Given the description of an element on the screen output the (x, y) to click on. 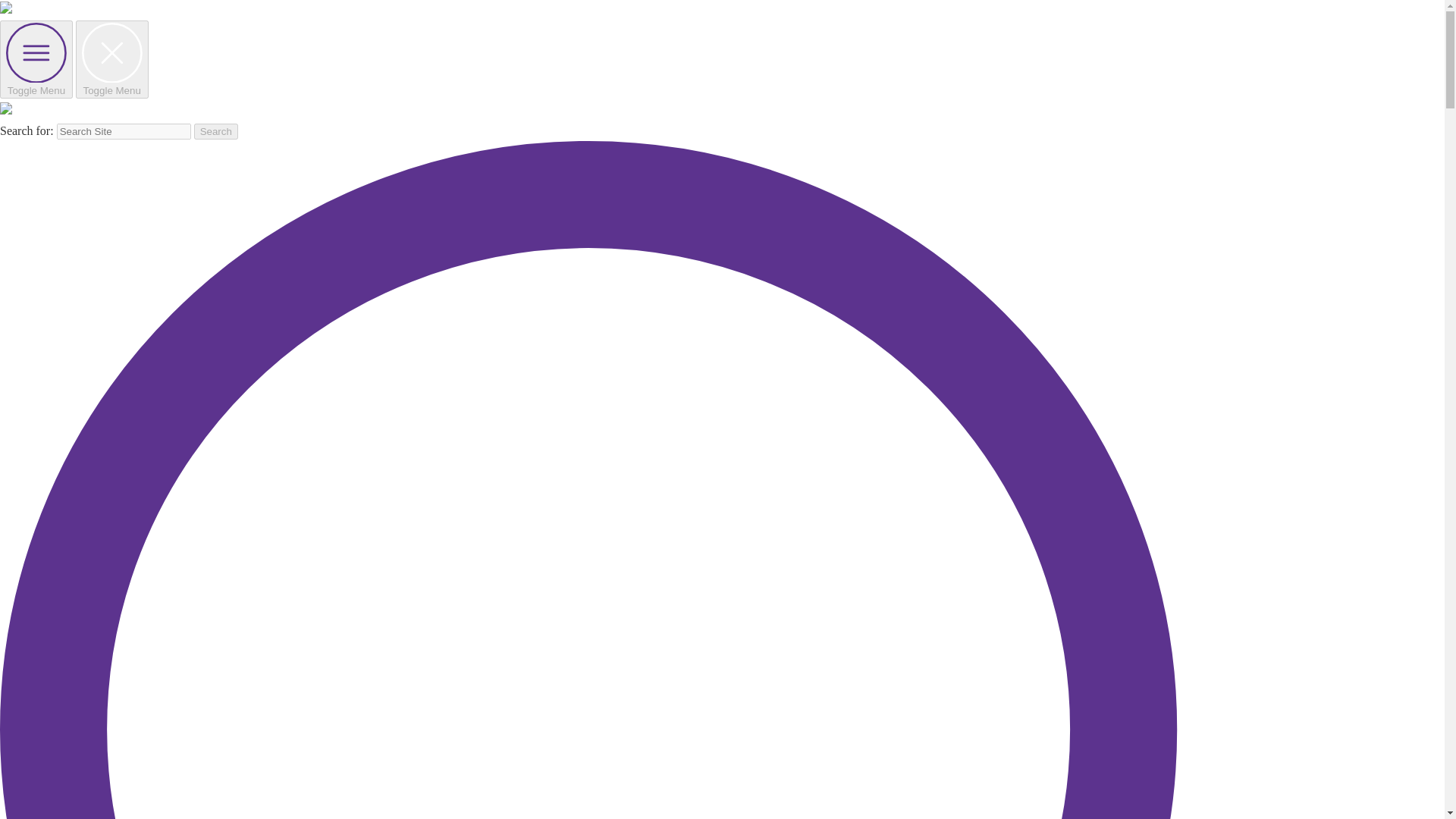
Search (215, 131)
Search (215, 131)
Search (215, 131)
